Given the description of an element on the screen output the (x, y) to click on. 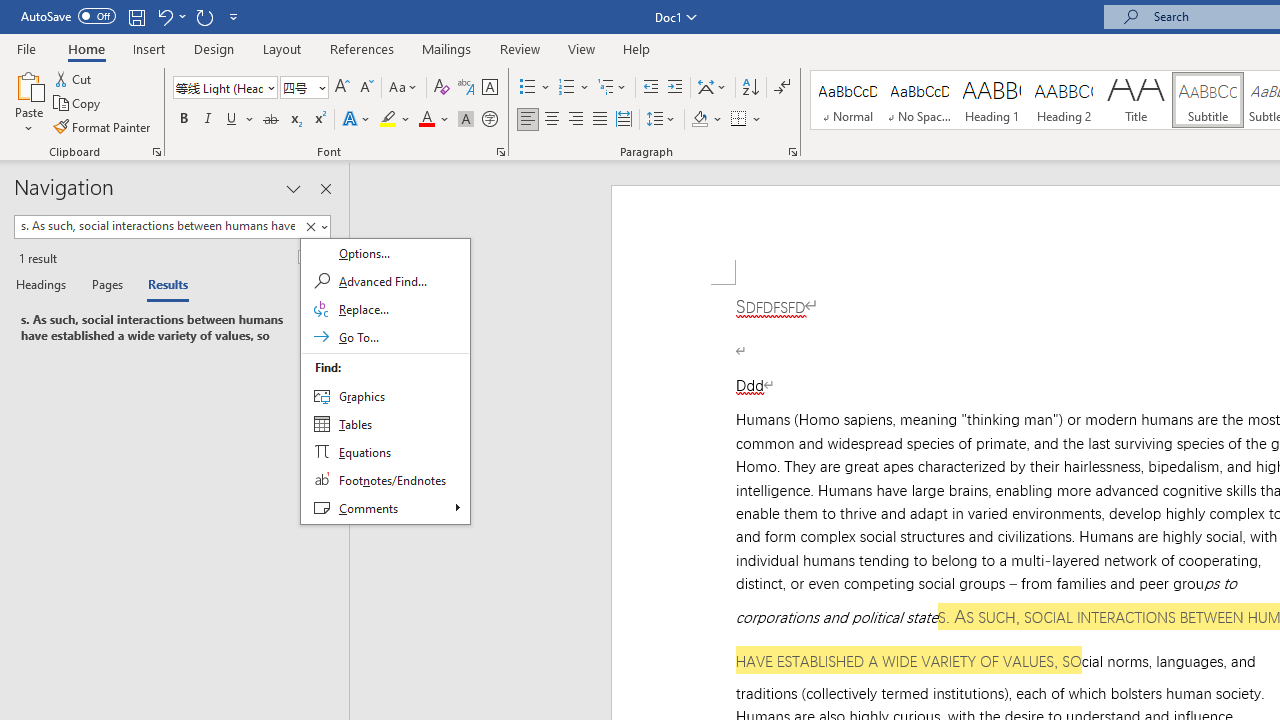
Undo Style (164, 15)
Line and Paragraph Spacing (661, 119)
Text Effects and Typography (357, 119)
Strikethrough (270, 119)
Shrink Font (365, 87)
Results (161, 285)
Align Left (527, 119)
Headings (45, 285)
Center (552, 119)
